Given the description of an element on the screen output the (x, y) to click on. 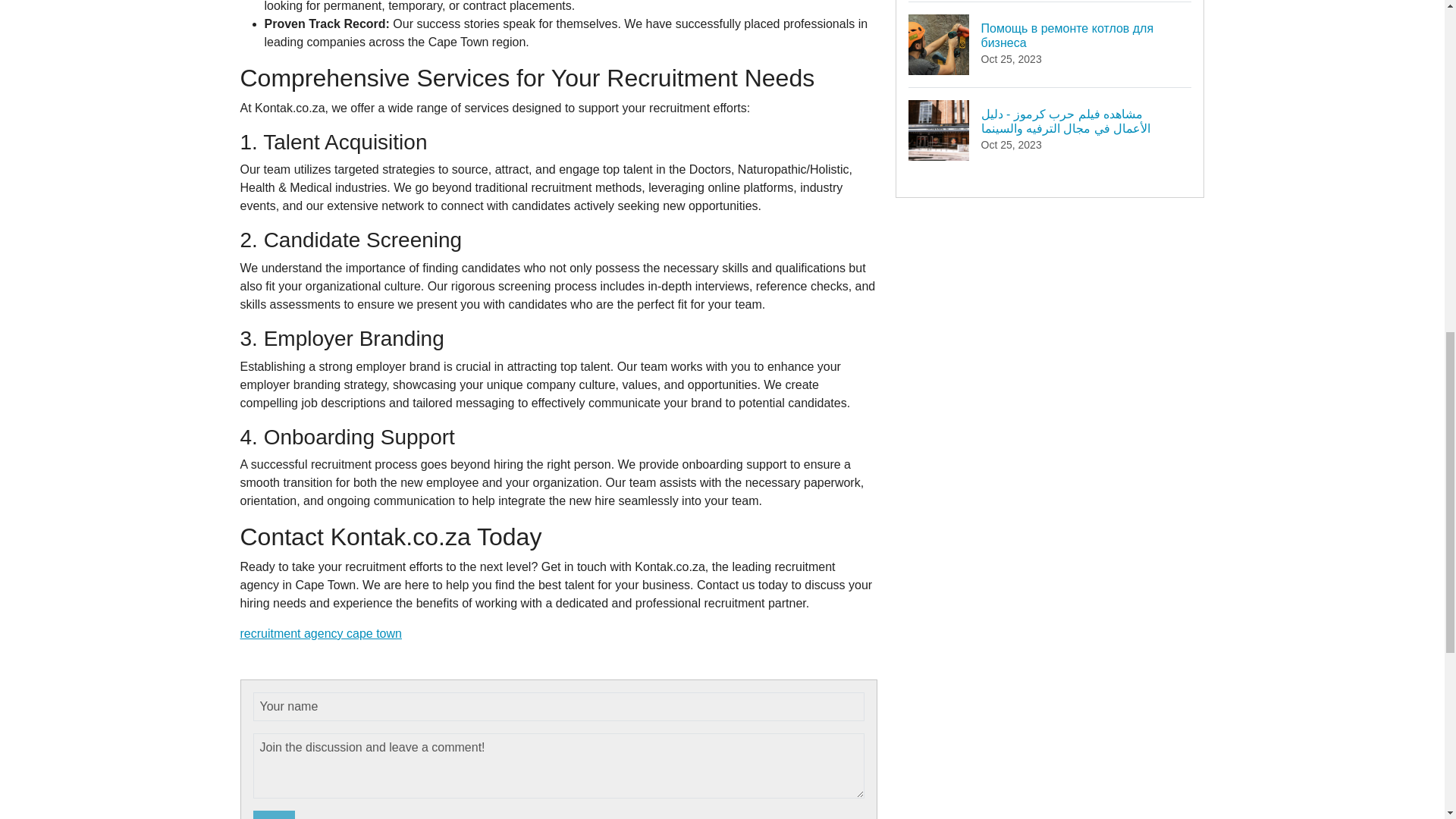
Send (274, 814)
recruitment agency cape town (320, 633)
Send (274, 814)
